Given the description of an element on the screen output the (x, y) to click on. 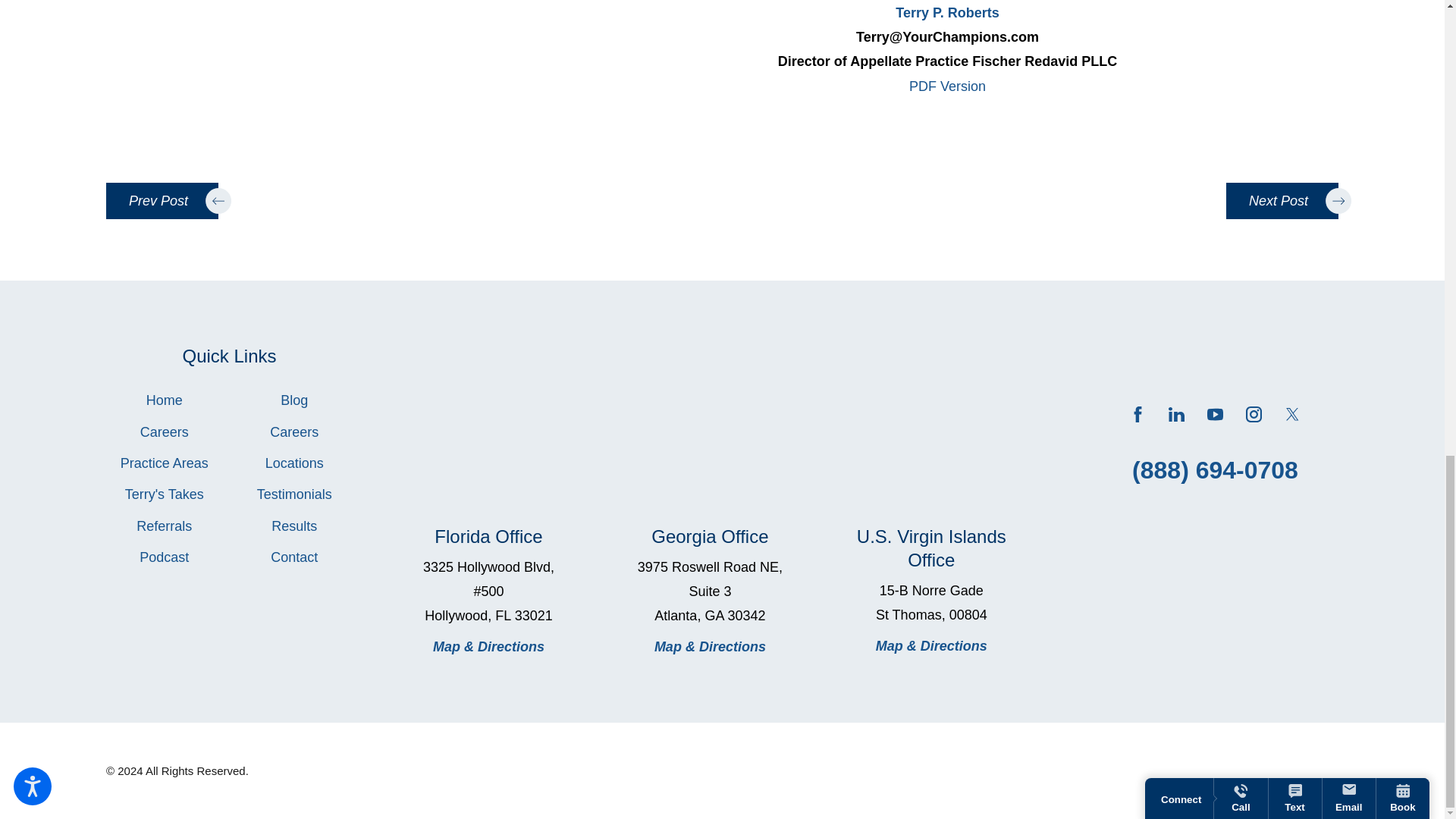
View previous item (162, 200)
YouTube (1215, 414)
LinkedIn (1177, 414)
Facebook (1137, 414)
View next item (1281, 200)
